Given the description of an element on the screen output the (x, y) to click on. 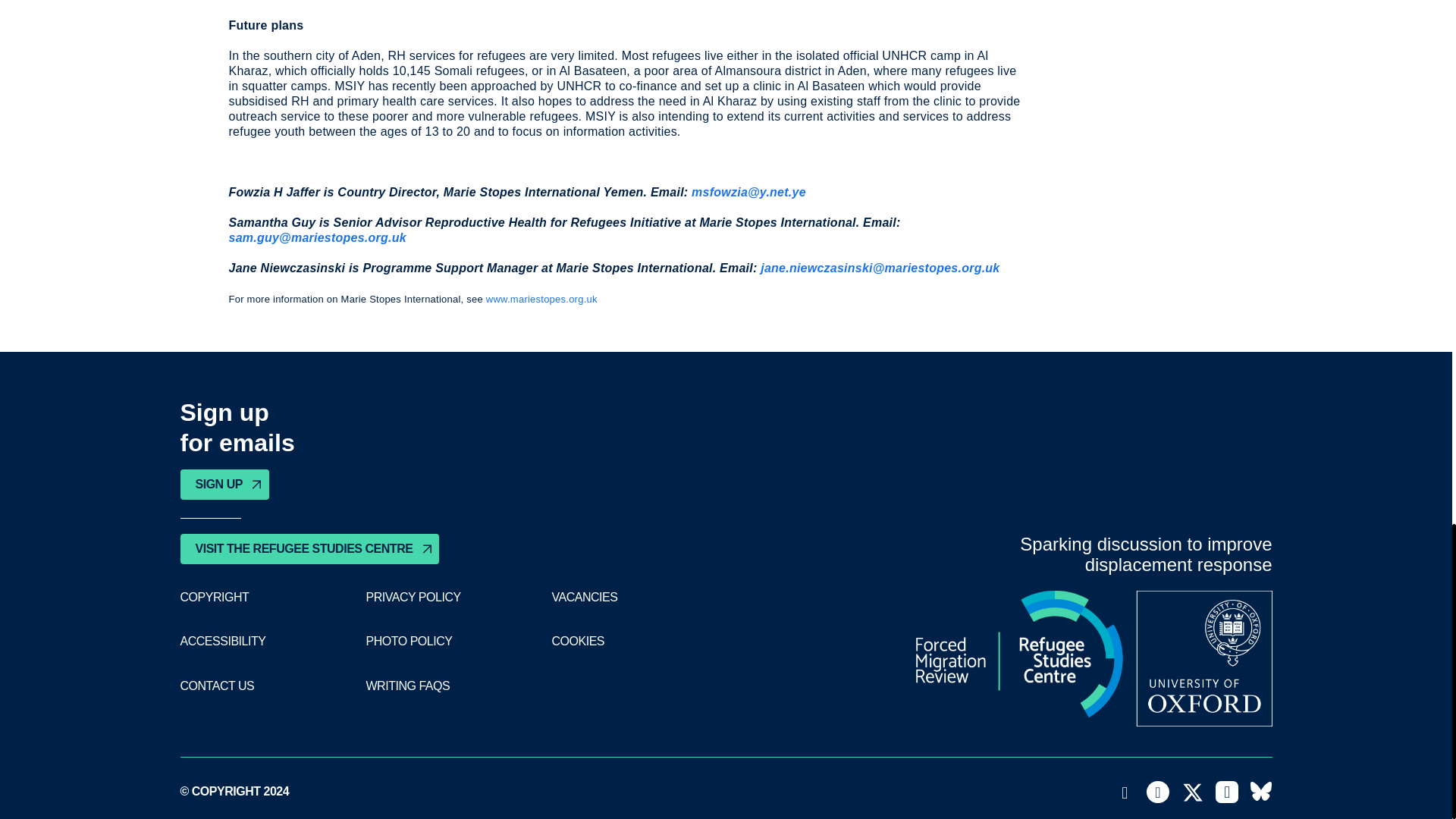
CONTACT US (217, 685)
VK (1260, 792)
Twitter (1192, 792)
LinkedIn (1227, 792)
SIGN UP (224, 484)
WRITING FAQS (407, 685)
Twitter (1192, 792)
LinkedIn (1227, 792)
VACANCIES (584, 597)
VK (1260, 792)
COPYRIGHT (214, 597)
PRIVACY POLICY (412, 597)
COOKIES (578, 641)
ACCESSIBILITY (223, 641)
VISIT THE REFUGEE STUDIES CENTRE (309, 548)
